Given the description of an element on the screen output the (x, y) to click on. 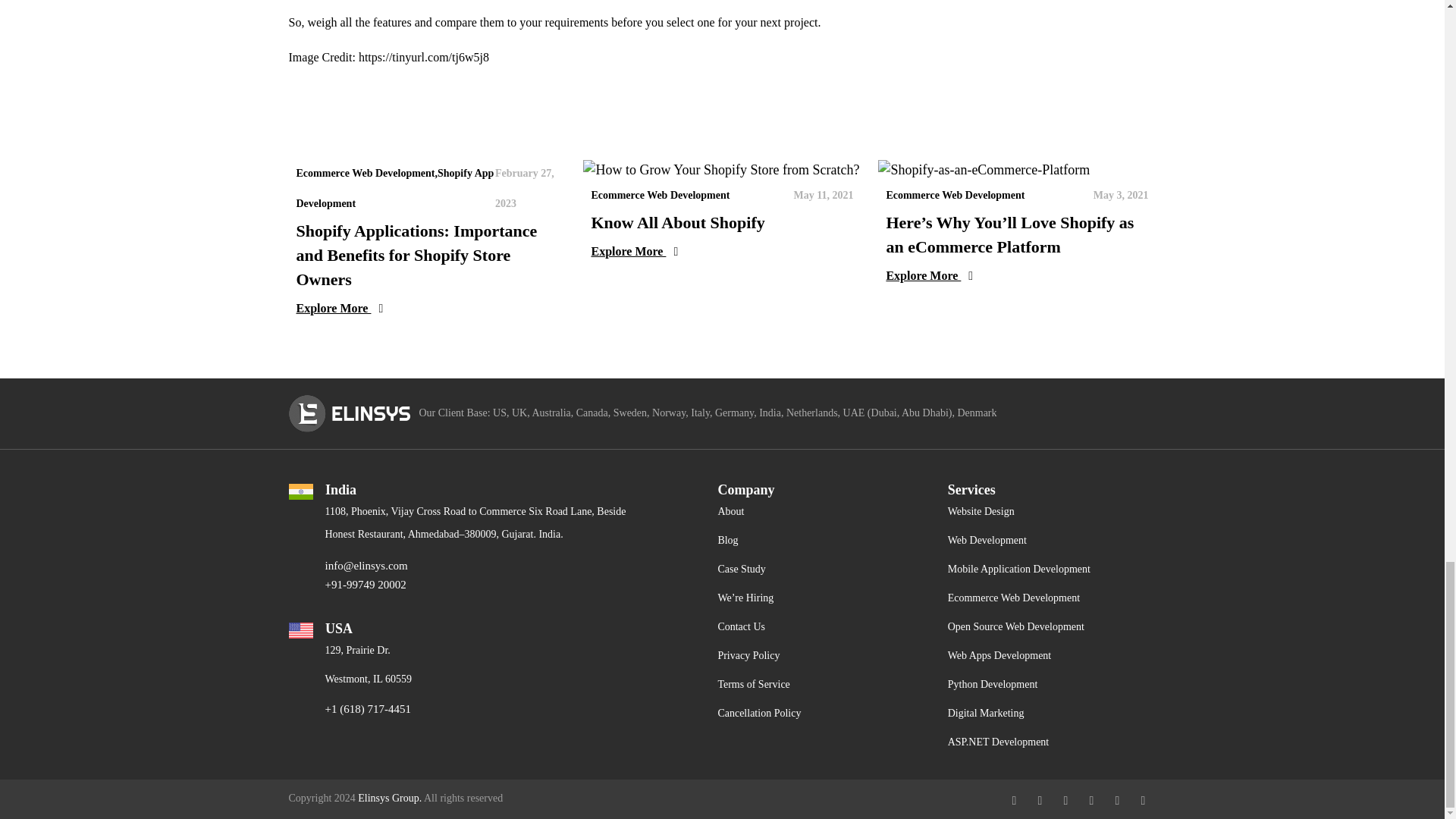
Case Study (741, 568)
Explore More (426, 308)
Explore More (1016, 275)
Explore More (722, 250)
Blog (727, 540)
About (730, 511)
